Given the description of an element on the screen output the (x, y) to click on. 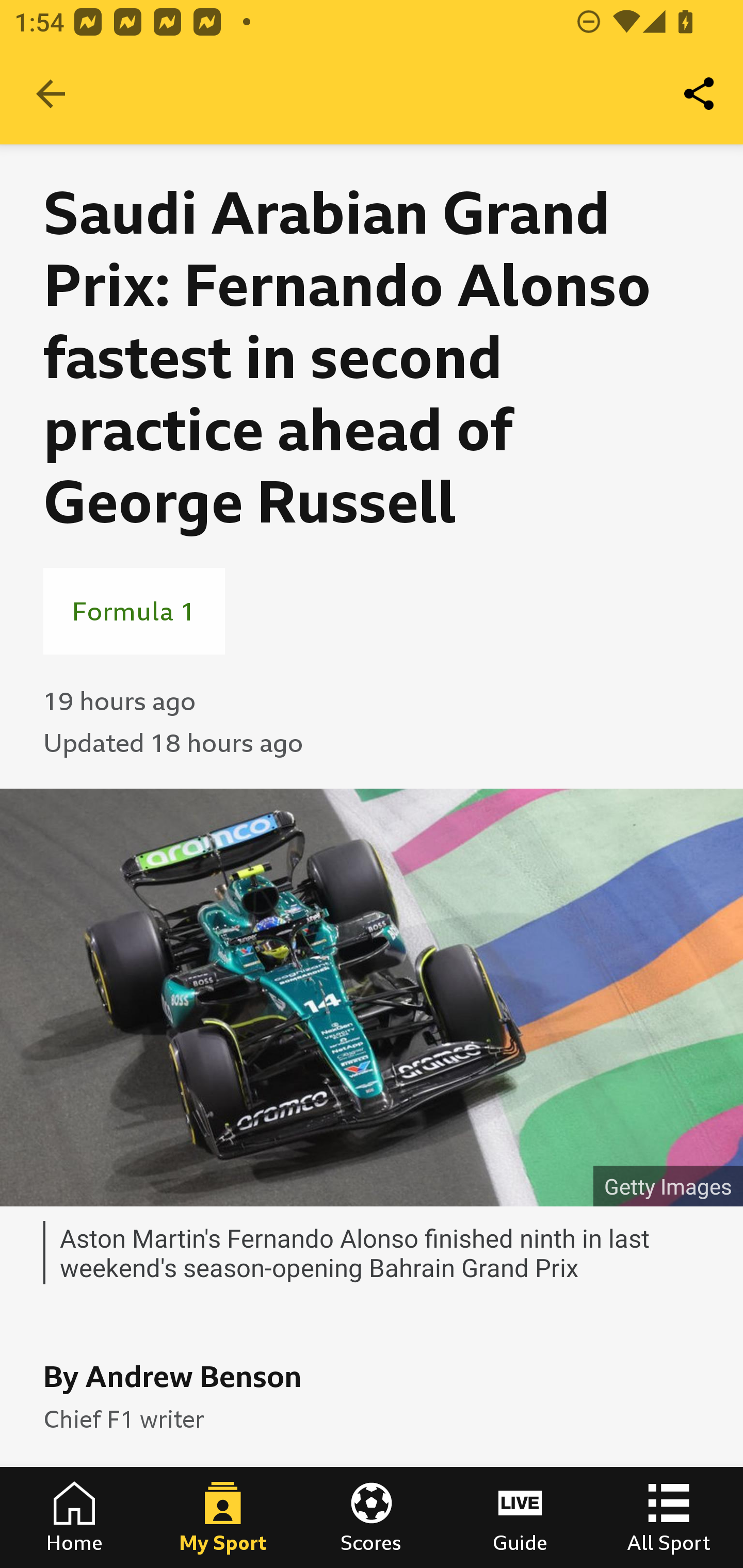
Navigate up (50, 93)
Share (699, 93)
Formula 1 (134, 610)
Home (74, 1517)
Scores (371, 1517)
Guide (519, 1517)
All Sport (668, 1517)
